Given the description of an element on the screen output the (x, y) to click on. 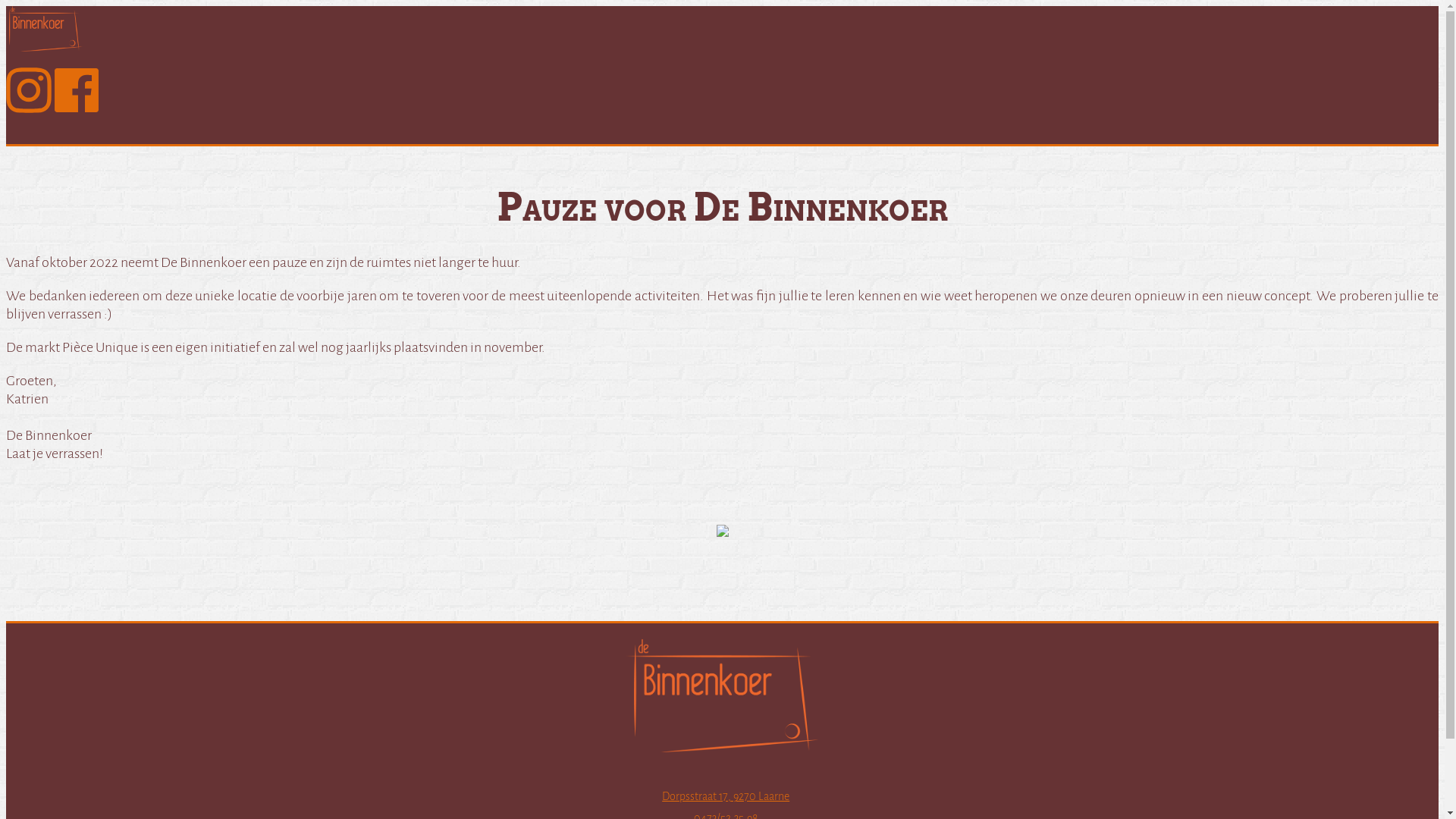
Dorpsstraat 17, 9270 Laarne Element type: text (725, 796)
